Given the description of an element on the screen output the (x, y) to click on. 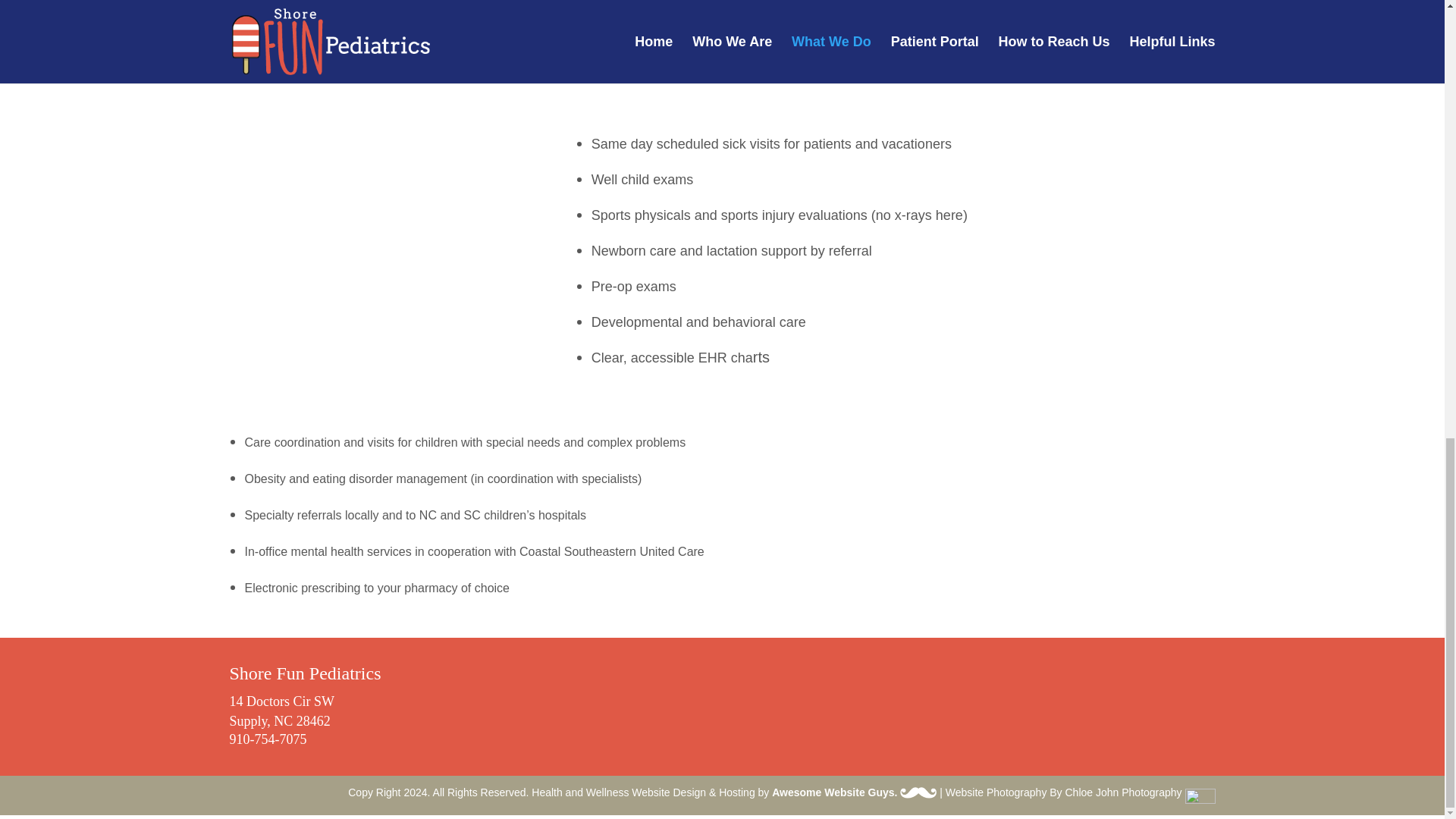
Awesome Website Guys (917, 792)
Website Photography By Chloe John Photography (1079, 792)
Awesome Website Guys. (853, 792)
Health and Wellness Website Design (618, 792)
